Given the description of an element on the screen output the (x, y) to click on. 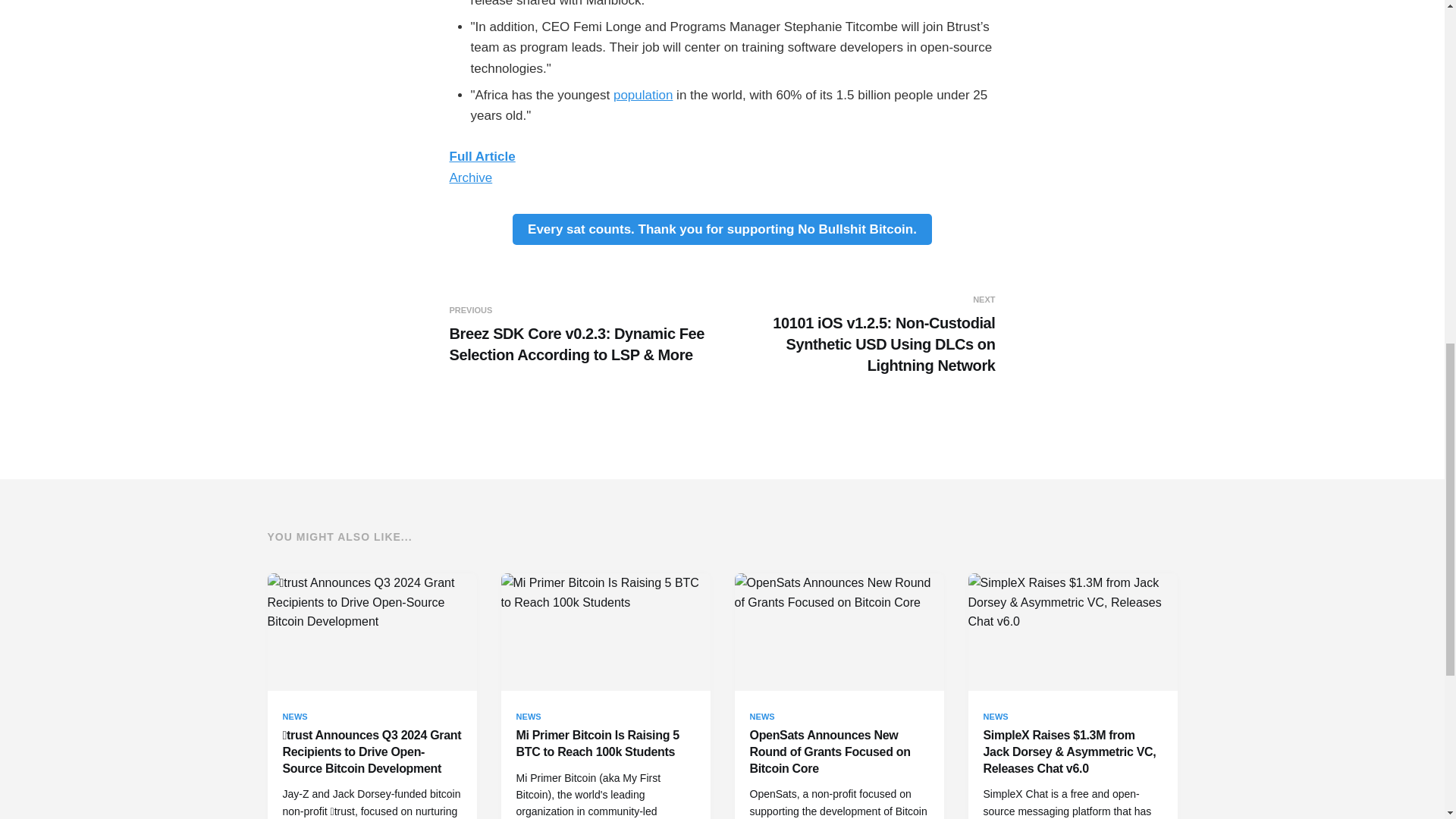
population (642, 94)
Full Article (481, 156)
Archive (470, 177)
